Given the description of an element on the screen output the (x, y) to click on. 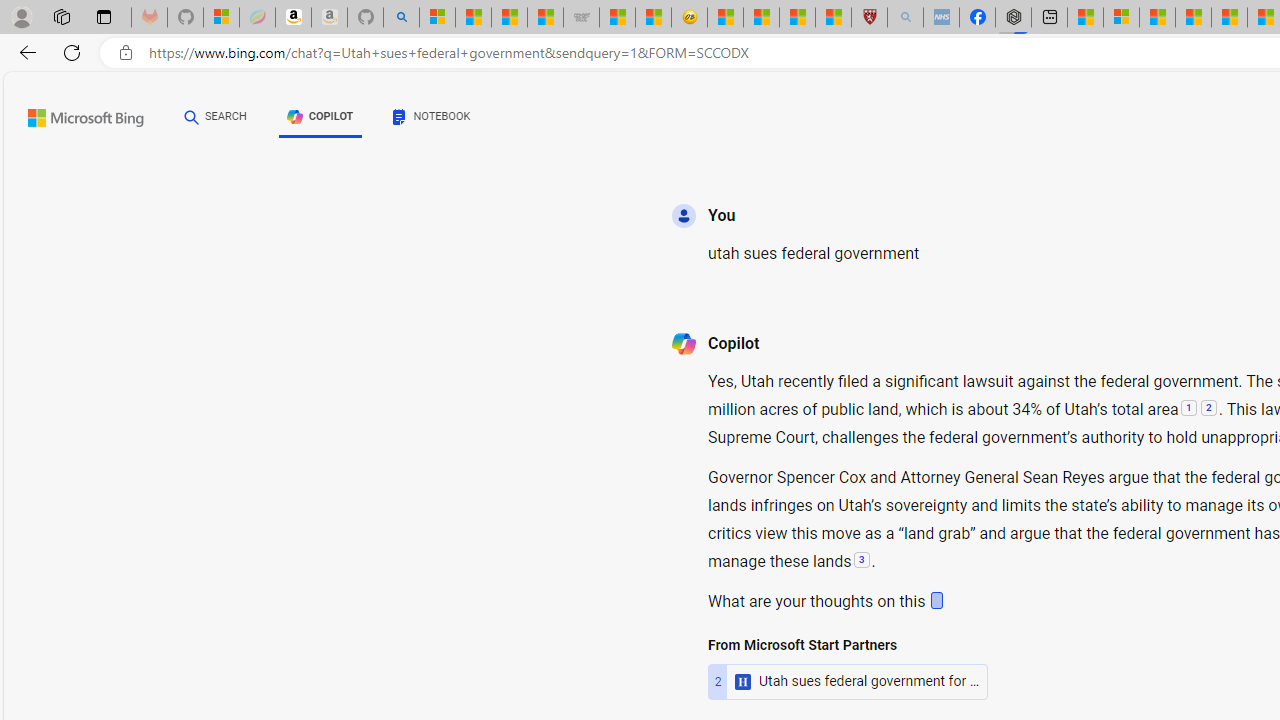
2:  (1208, 409)
SEARCH (215, 116)
